Given the description of an element on the screen output the (x, y) to click on. 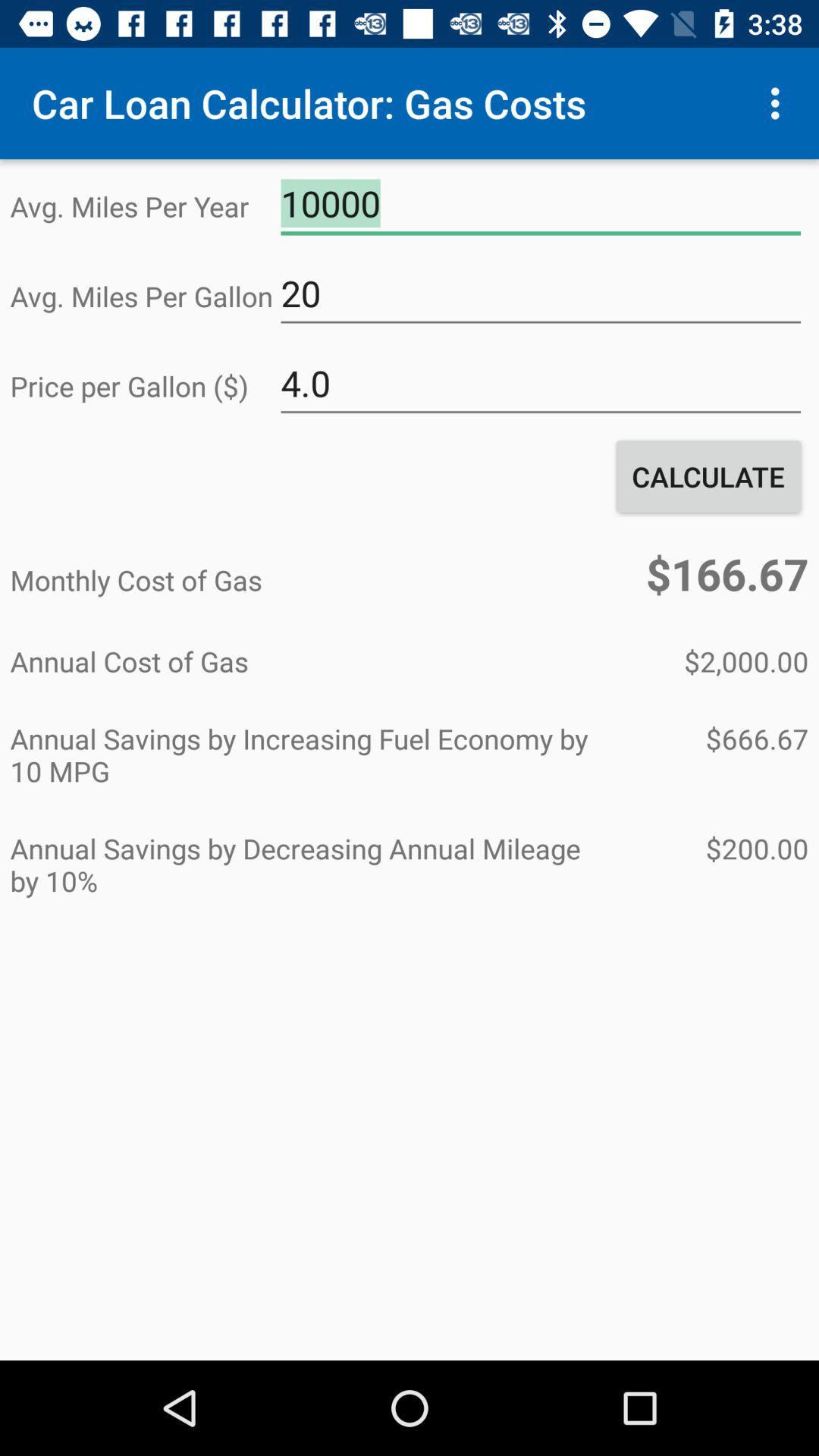
press icon below the 20 item (540, 383)
